Given the description of an element on the screen output the (x, y) to click on. 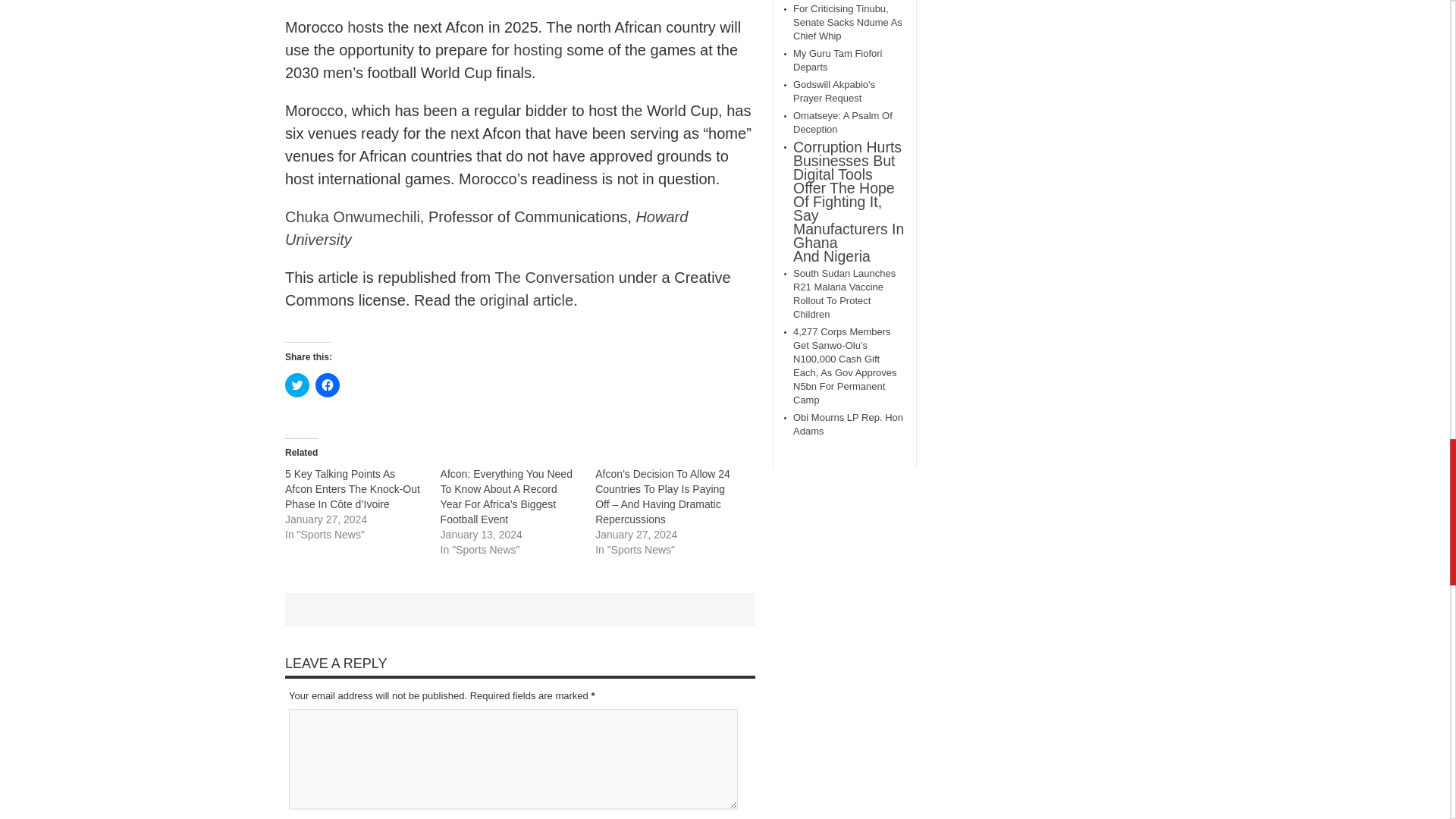
Click to share on Facebook (327, 385)
Click to share on Twitter (296, 385)
